Given the description of an element on the screen output the (x, y) to click on. 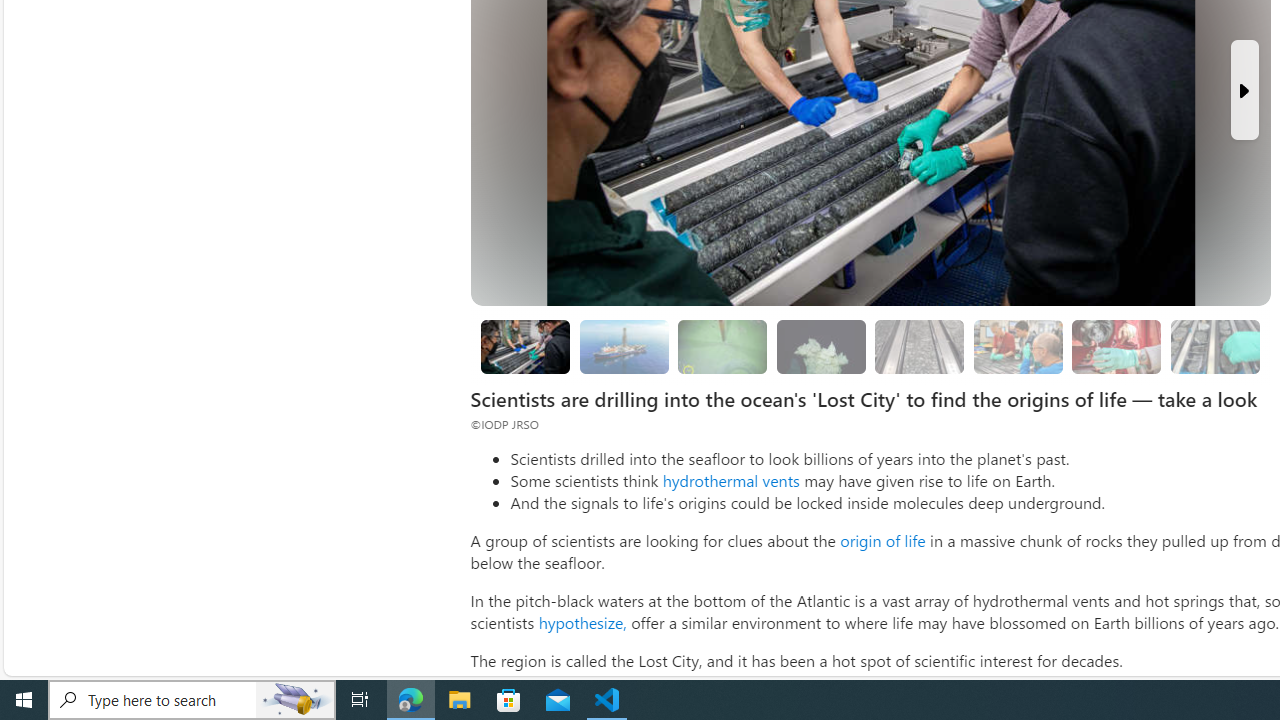
hydrothermal vents (730, 480)
hypothesize, (582, 622)
Researchers are still studying the samples (1214, 346)
The Lost City could hold clues to the origin of life. (820, 346)
The Lost City could hold clues to the origin of life. (820, 346)
Class: progress (1214, 343)
Next Slide (1244, 89)
Researchers are still studying the samples (1214, 346)
